Given the description of an element on the screen output the (x, y) to click on. 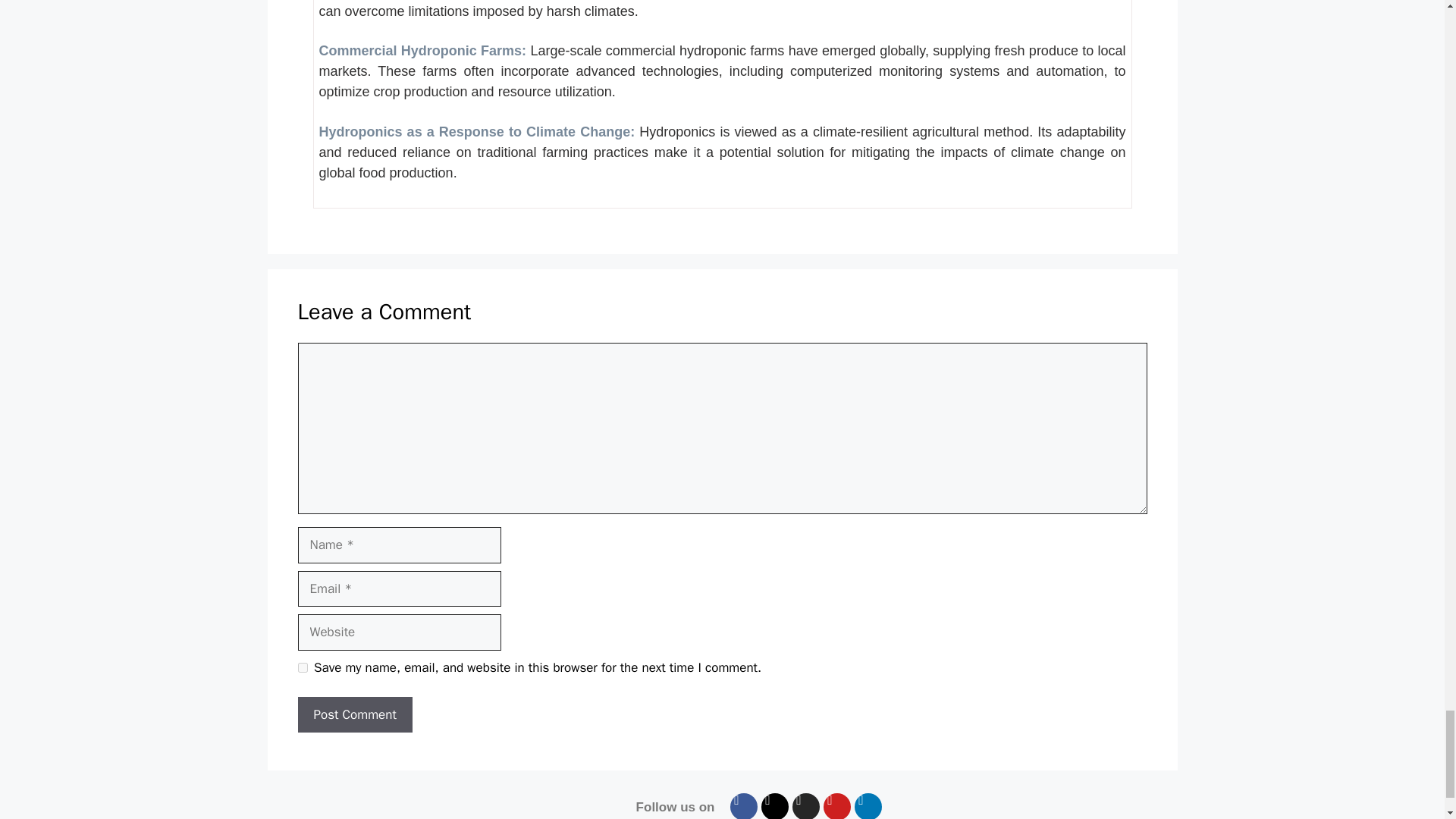
yes (302, 667)
Post Comment (354, 714)
Post Comment (354, 714)
